Given the description of an element on the screen output the (x, y) to click on. 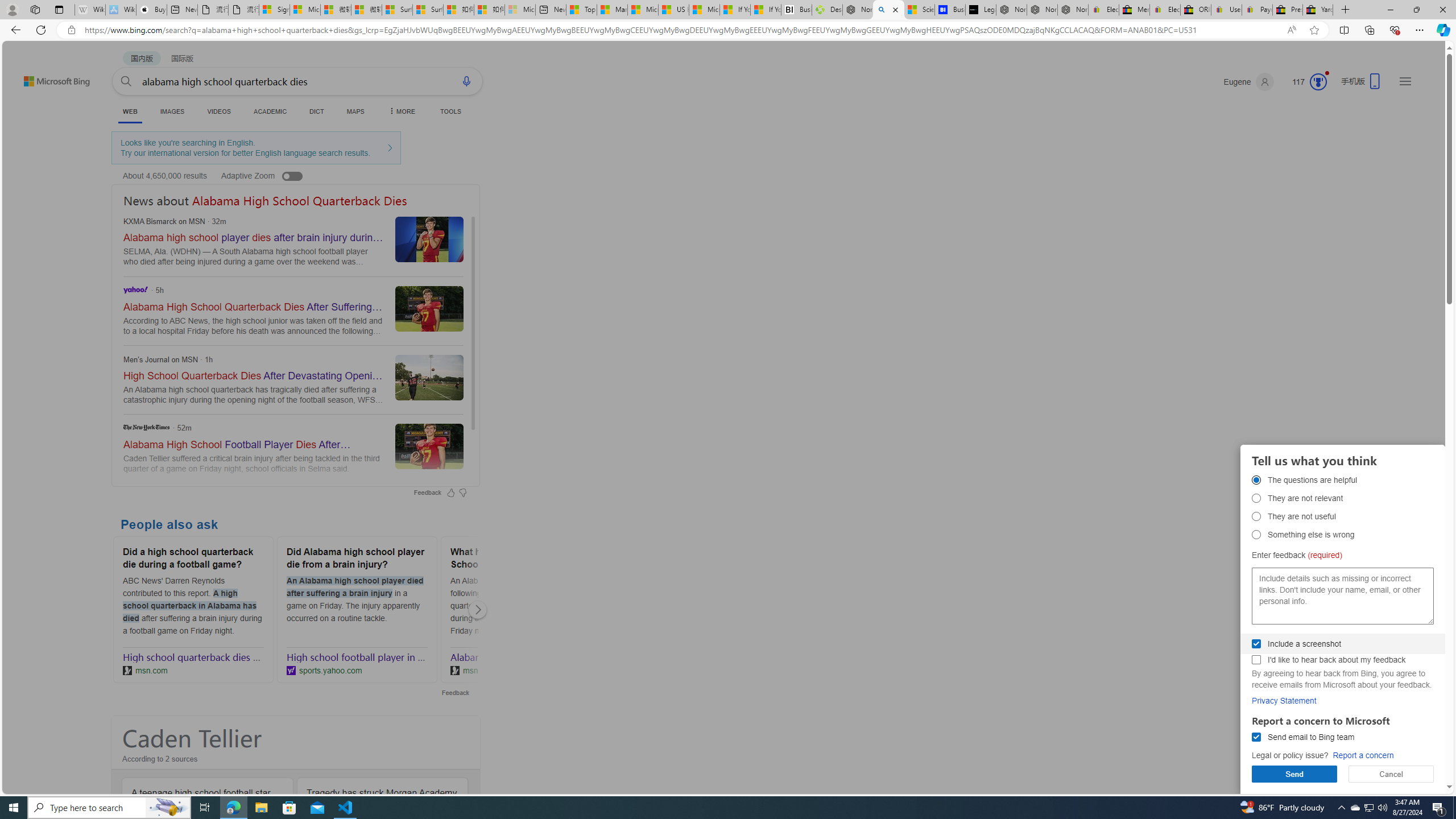
Send (1294, 773)
They are not relevant They are not relevant (1256, 497)
